Given the description of an element on the screen output the (x, y) to click on. 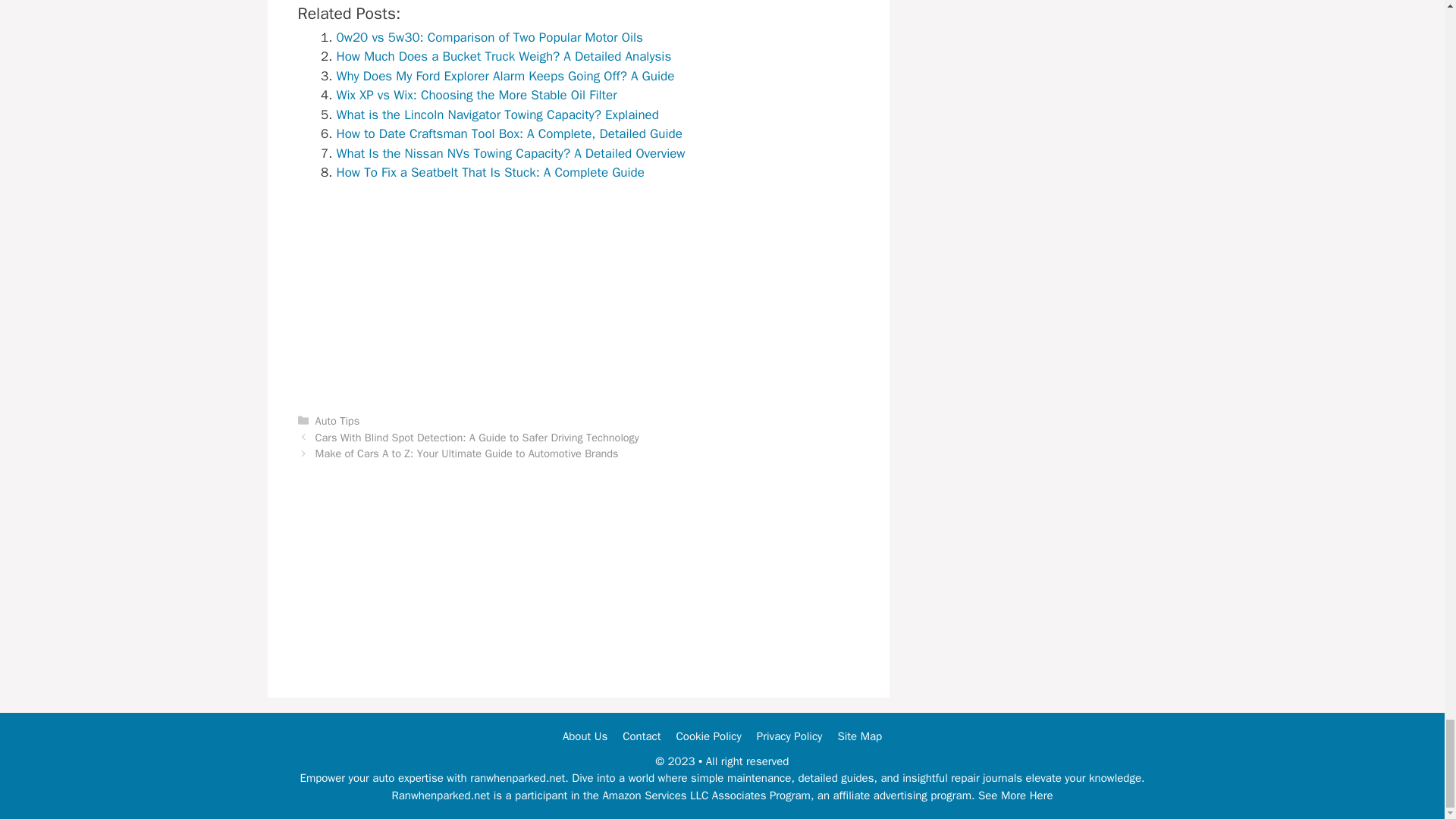
What Is the Nissan NVs Towing Capacity? A Detailed Overview (510, 153)
What is the Lincoln Navigator Towing Capacity? Explained (497, 114)
How to Date Craftsman Tool Box: A Complete, Detailed Guide (509, 133)
0w20 vs 5w30: Comparison of Two Popular Motor Oils (489, 37)
Wix XP vs Wix: Choosing the More Stable Oil Filter (476, 94)
Why Does My Ford Explorer Alarm Keeps Going Off? A Guide (505, 75)
How To Fix a Seatbelt That Is Stuck: A Complete Guide (490, 172)
